Given the description of an element on the screen output the (x, y) to click on. 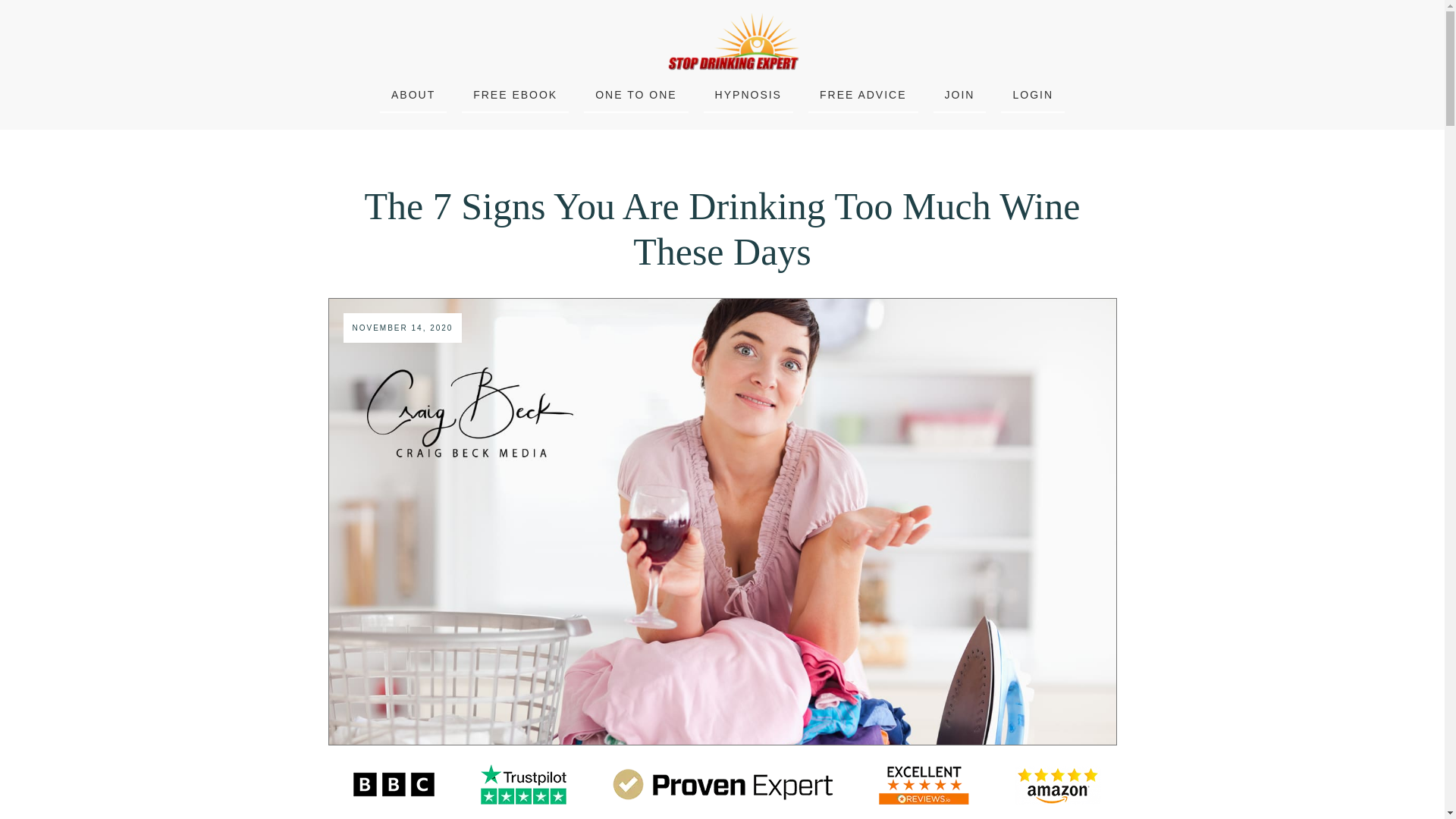
ONE TO ONE (636, 94)
The 7 Signs You Are Drinking Too Much Wine These Days (722, 228)
ABOUT (413, 94)
JOIN (959, 94)
FREE ADVICE (863, 94)
The 7 Signs You Are Drinking Too Much Wine These Days (722, 228)
Stop Drinking Expert Review (721, 784)
FREE EBOOK (515, 94)
HYPNOSIS (747, 94)
LOGIN (1031, 94)
